Given the description of an element on the screen output the (x, y) to click on. 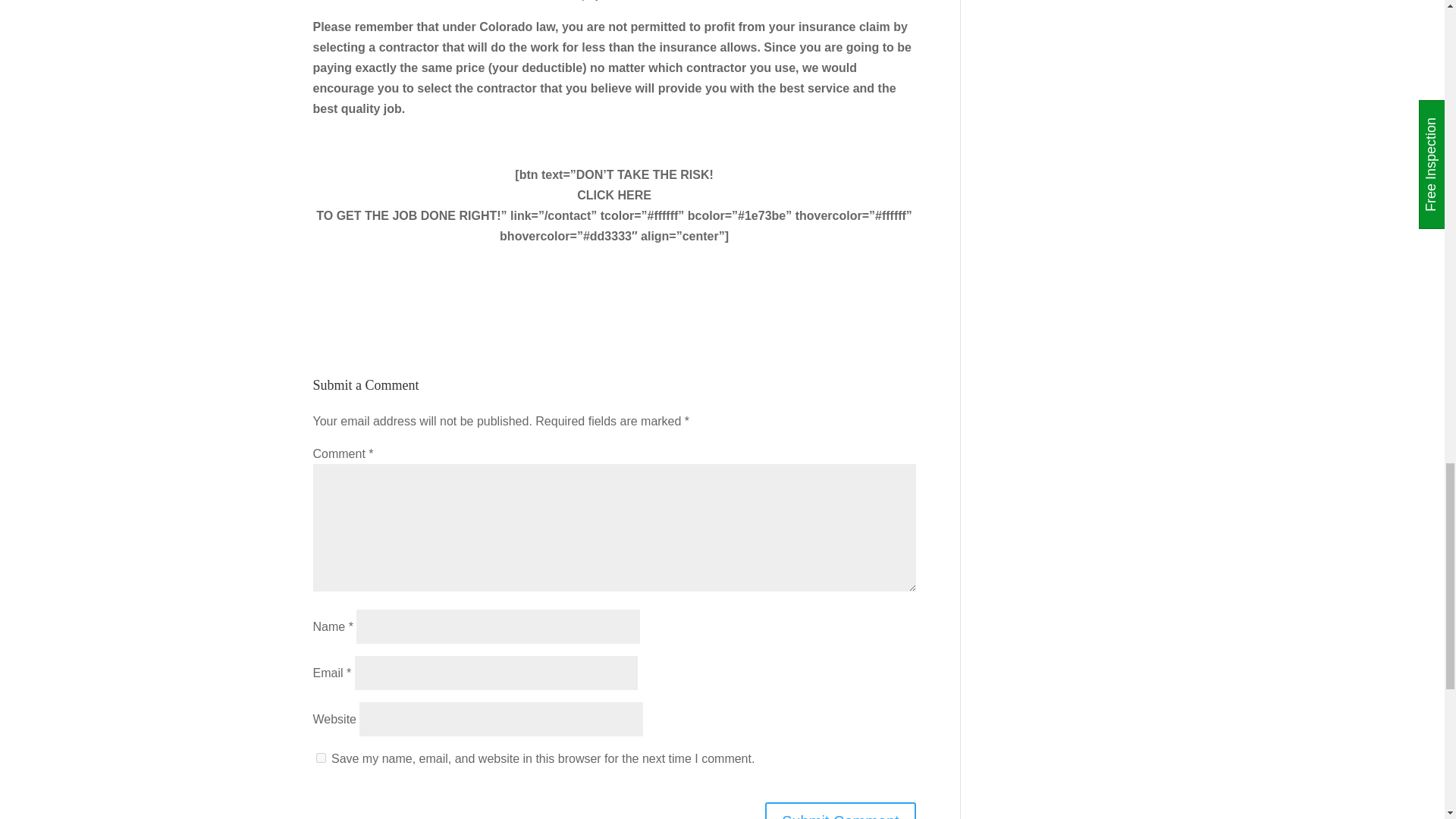
yes (319, 757)
Submit Comment (840, 810)
Submit Comment (840, 810)
